Given the description of an element on the screen output the (x, y) to click on. 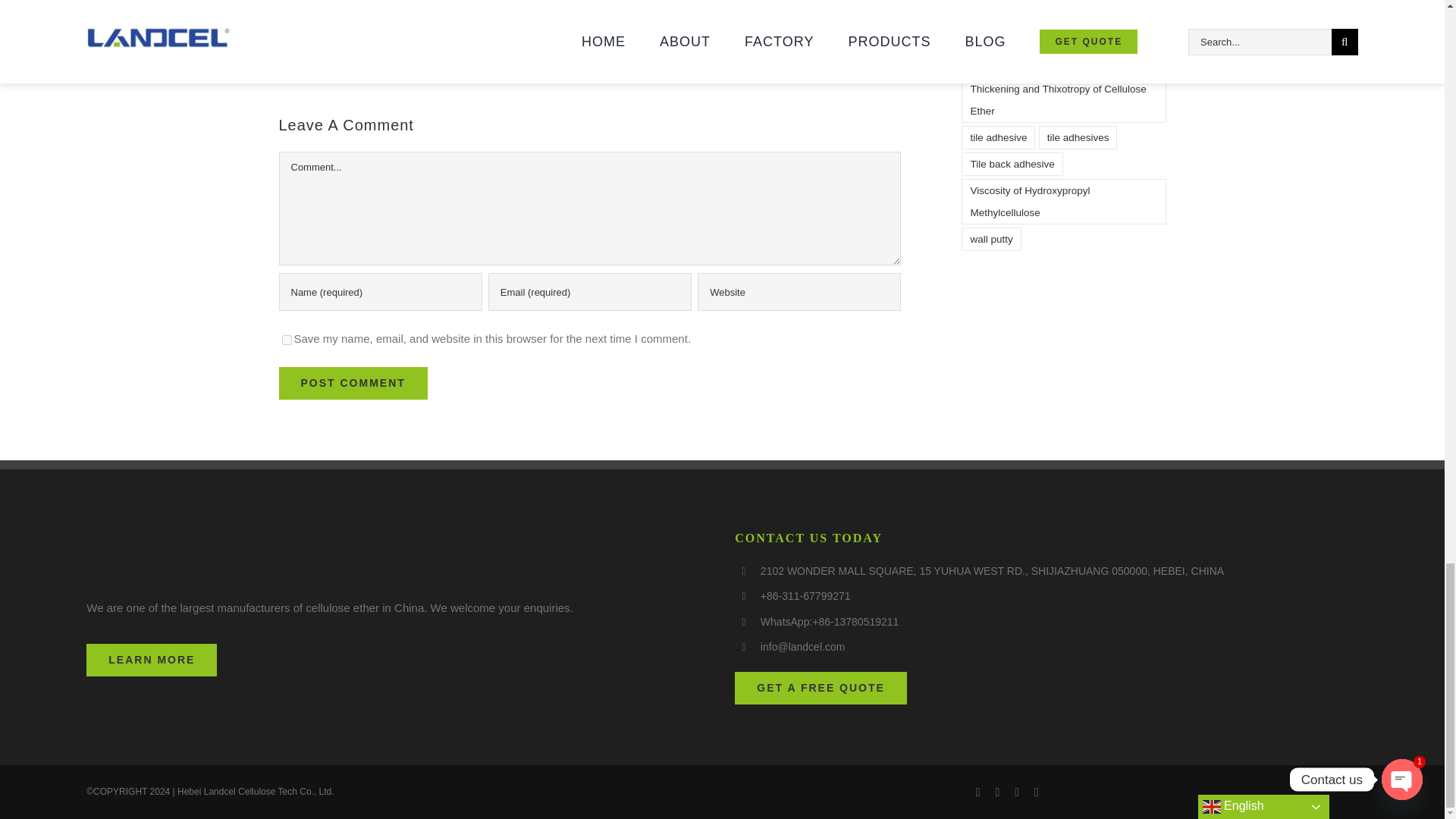
Are there hollows and cracks in the plaster? (411, 50)
Post Comment (353, 382)
Are there hollows and cracks in the plaster? (411, 50)
logomobile (157, 554)
0 Comments (718, 20)
0 Comments (393, 70)
Why use tile adhesive and tile back adhesive? (743, 4)
Why use tile adhesive and tile back adhesive? (743, 4)
yes (287, 339)
